Given the description of an element on the screen output the (x, y) to click on. 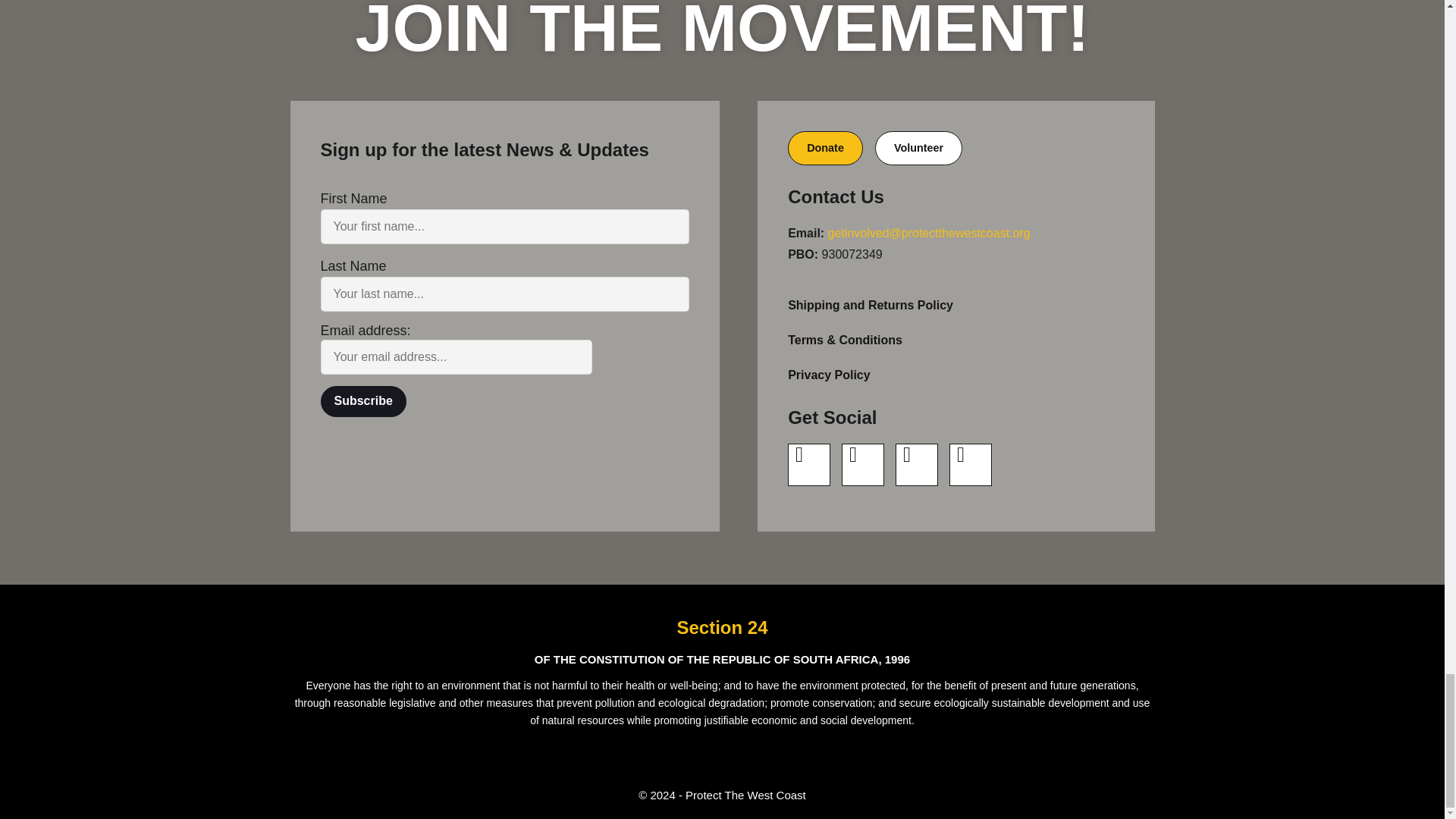
Subscribe (363, 400)
